Given the description of an element on the screen output the (x, y) to click on. 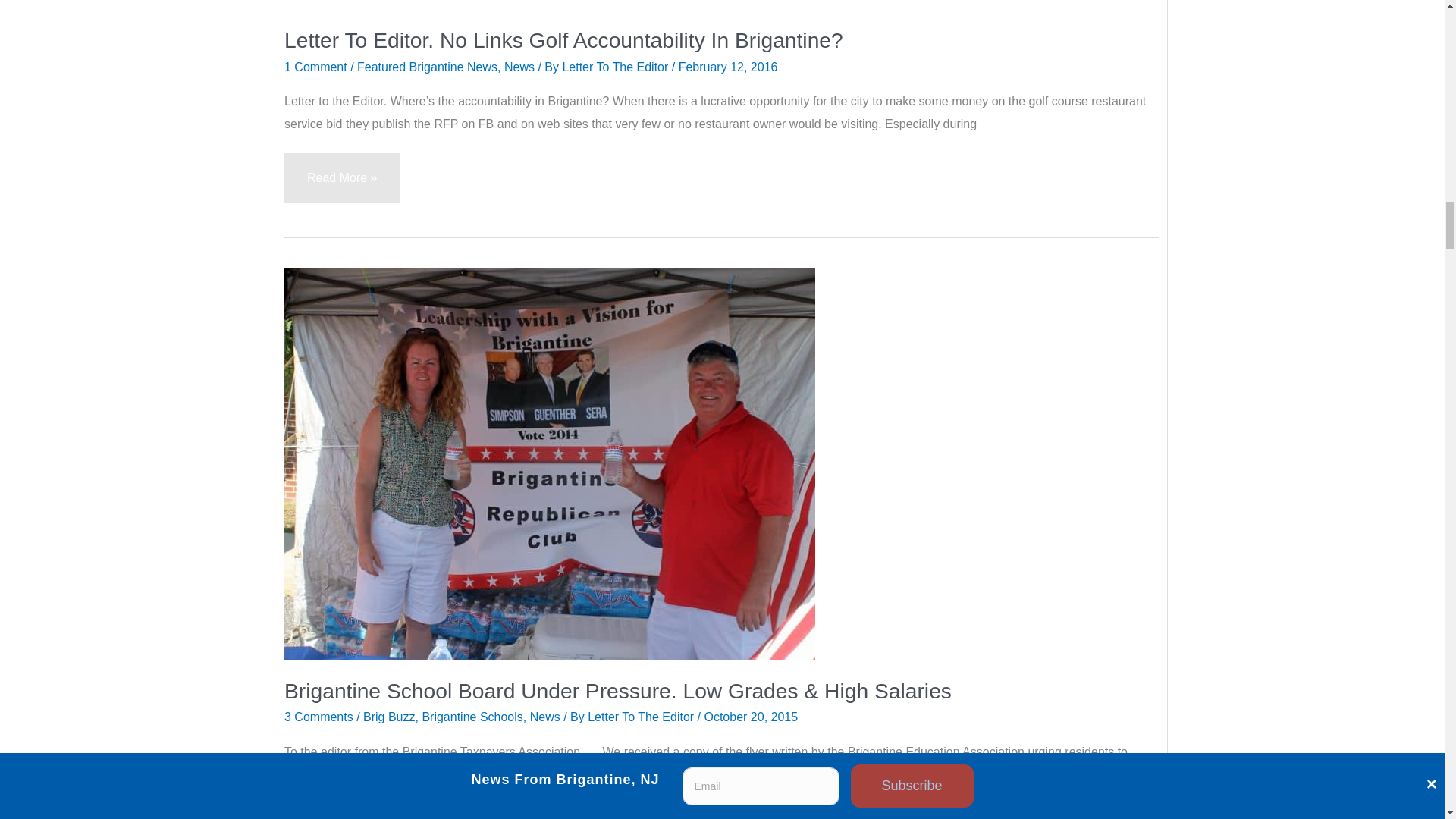
View all posts by Letter To The Editor (642, 716)
View all posts by Letter To The Editor (616, 66)
